Given the description of an element on the screen output the (x, y) to click on. 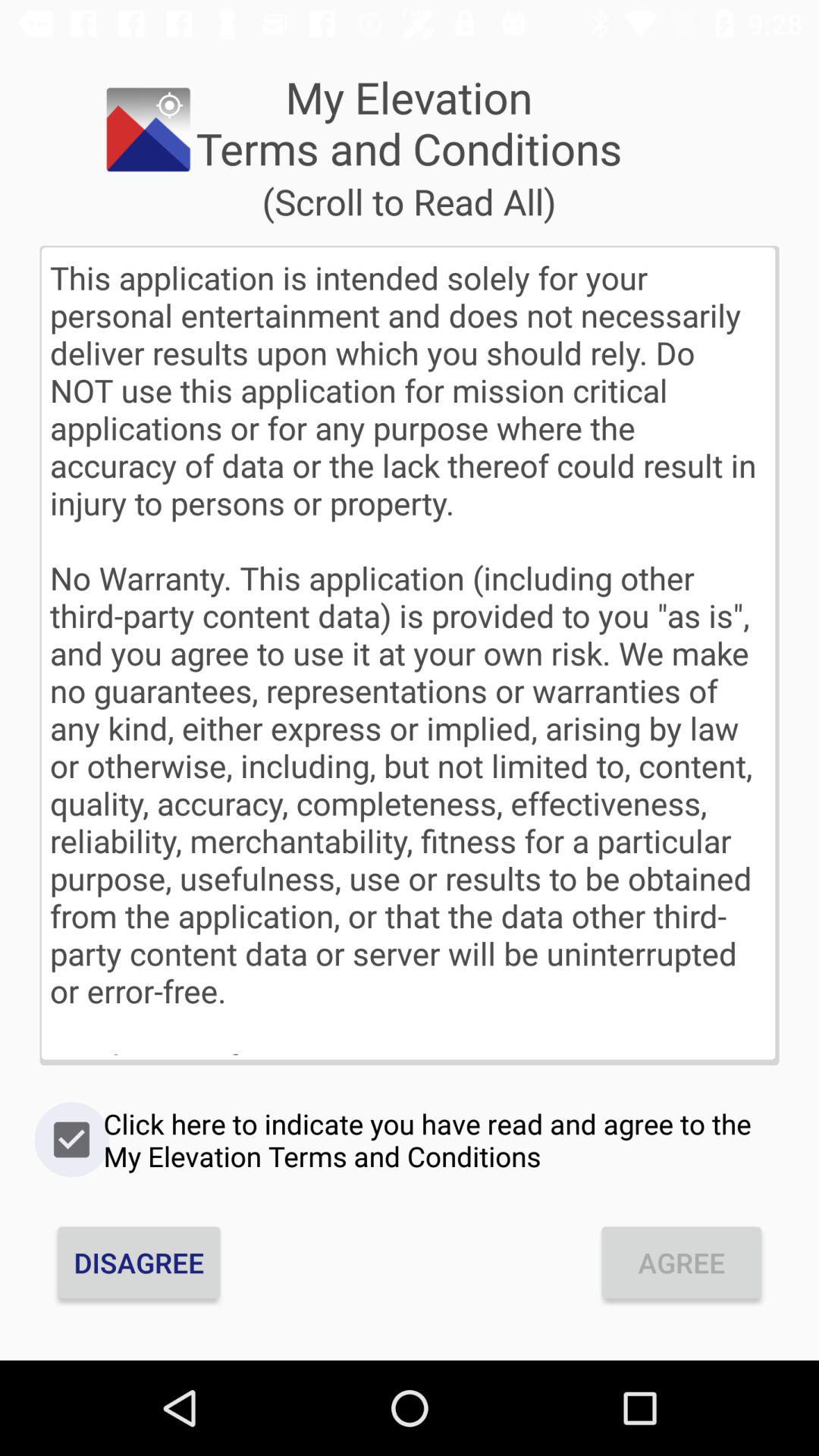
open click here to icon (409, 1140)
